Given the description of an element on the screen output the (x, y) to click on. 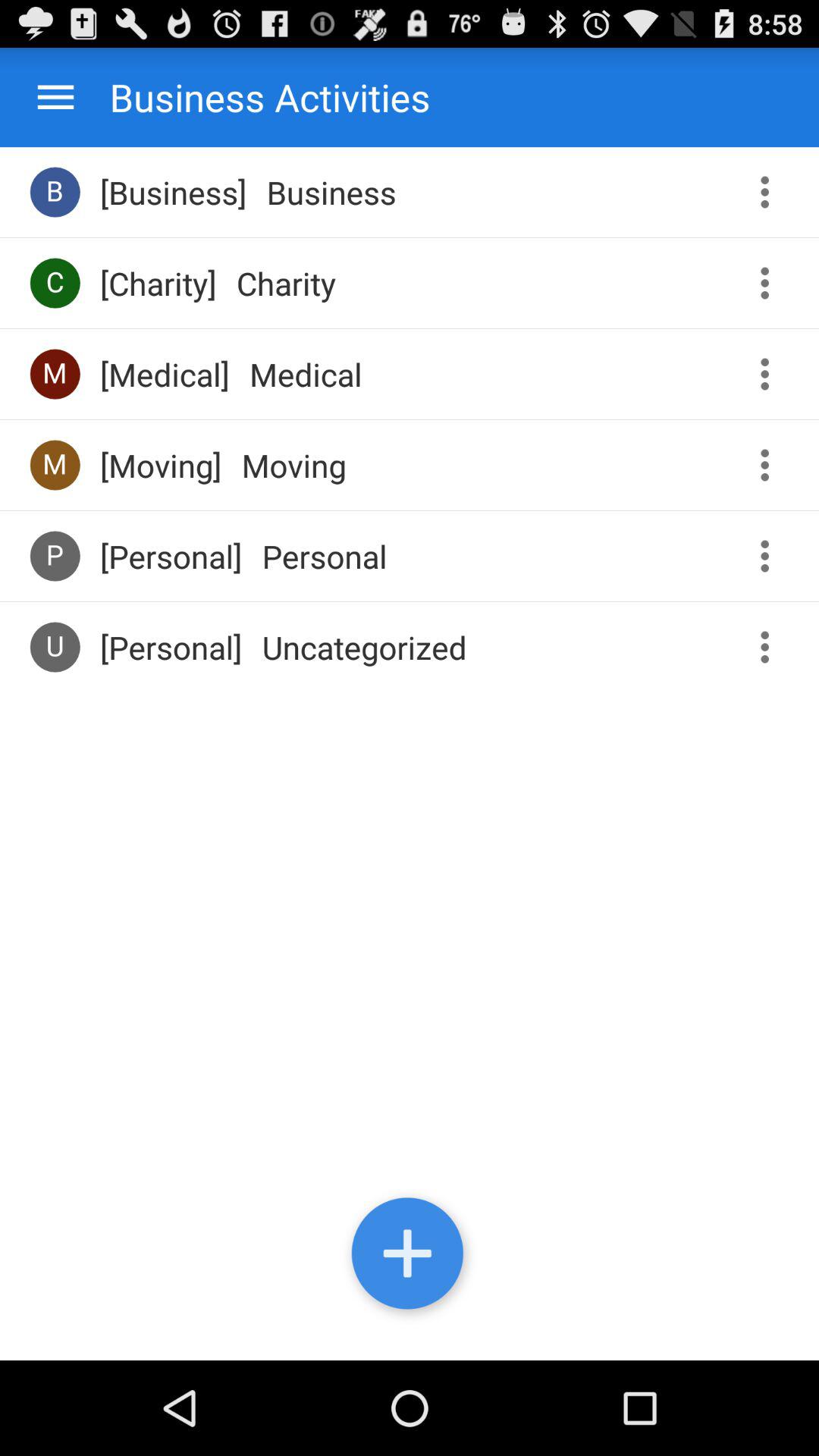
see menu (770, 374)
